Given the description of an element on the screen output the (x, y) to click on. 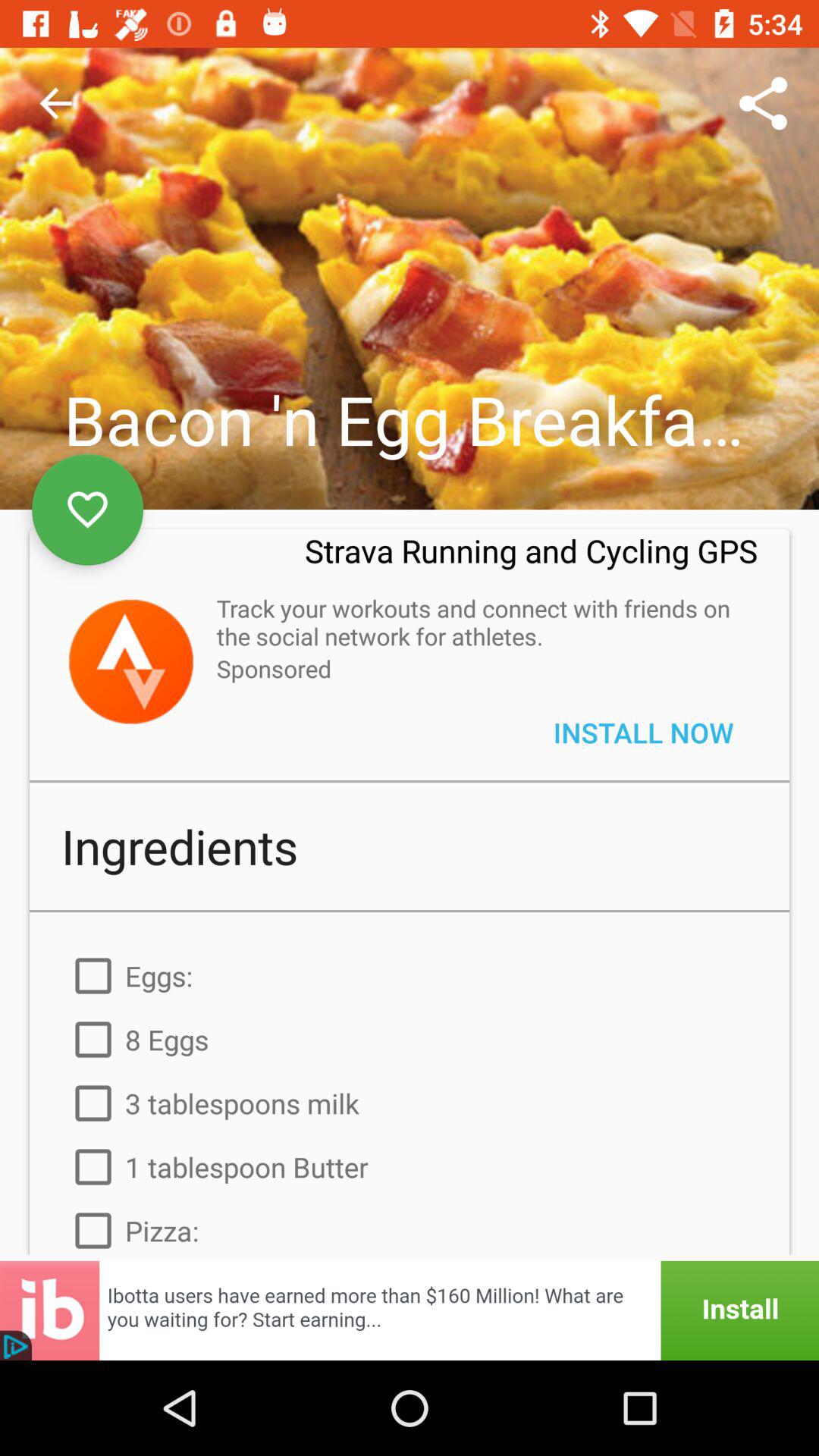
turn on icon to the right of sponsored item (643, 732)
